Given the description of an element on the screen output the (x, y) to click on. 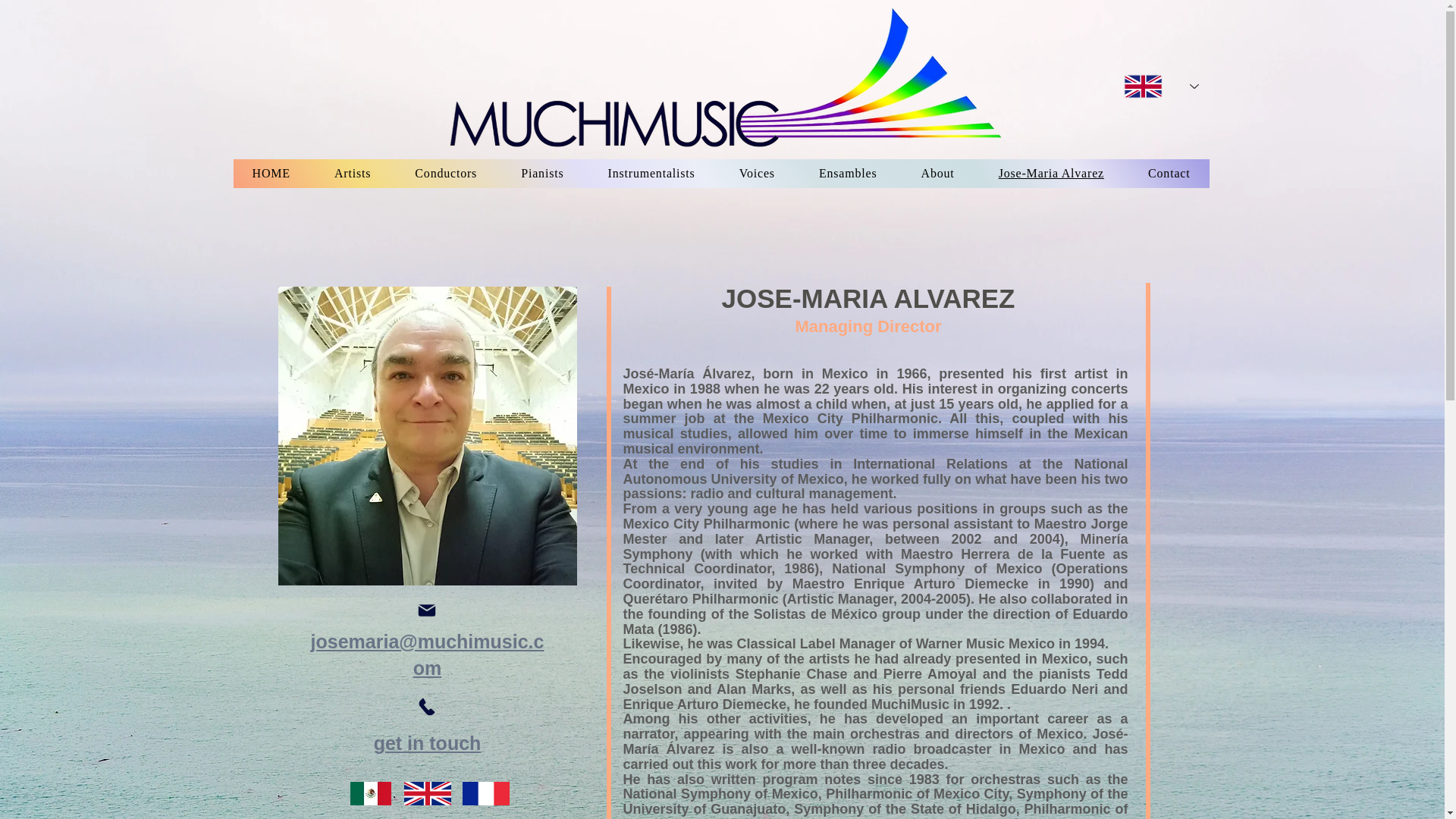
Conductors (446, 173)
HOME (270, 173)
Artists (352, 173)
Pianists (542, 173)
